Given the description of an element on the screen output the (x, y) to click on. 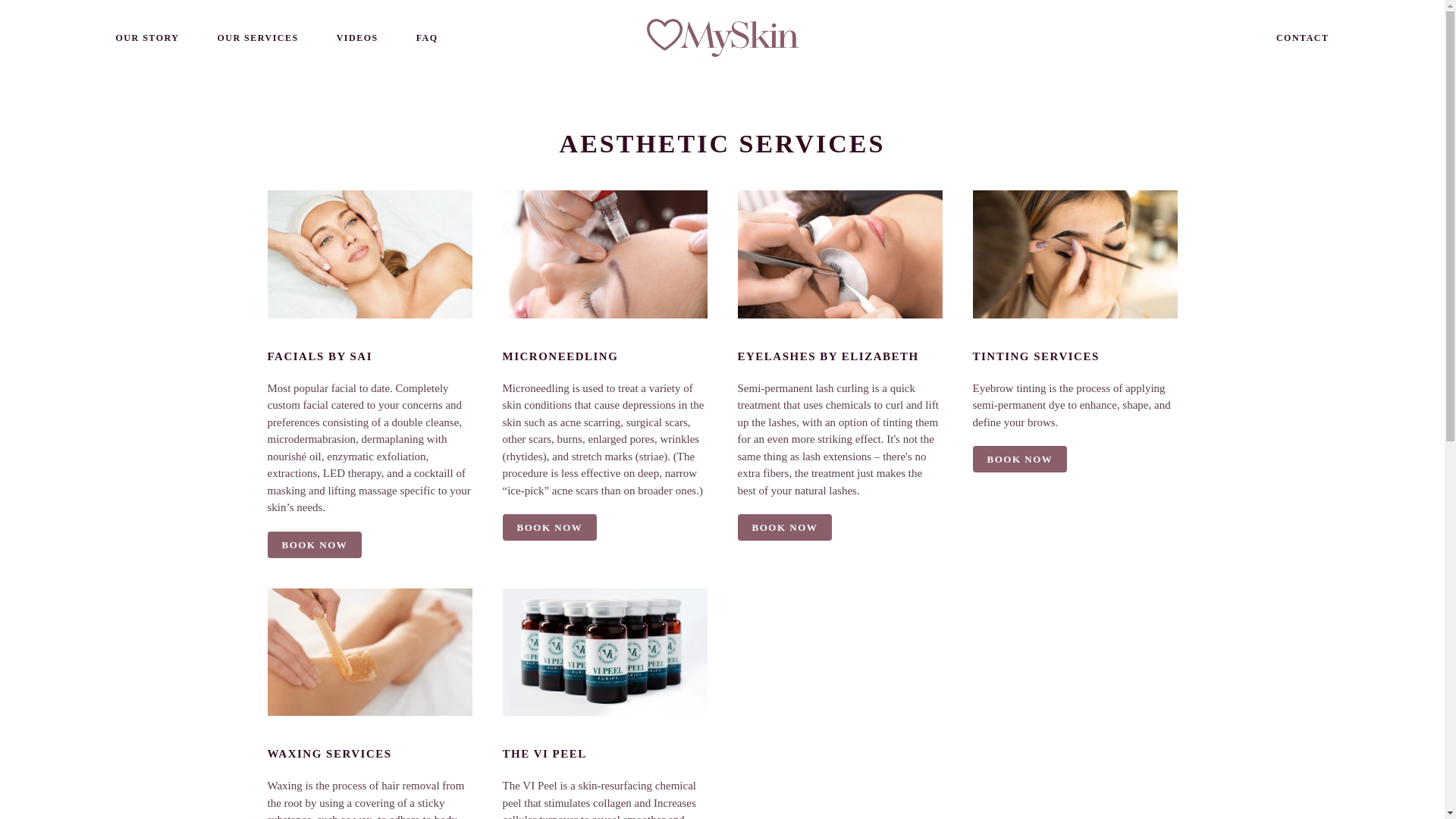
BOOK NOW (549, 527)
Book your service (783, 527)
OUR SERVICES (257, 38)
Book your service (549, 527)
BOOK NOW (783, 527)
BOOK NOW (1019, 458)
BOOK NOW (313, 544)
Book your service (313, 544)
Book your service (1019, 458)
